Given the description of an element on the screen output the (x, y) to click on. 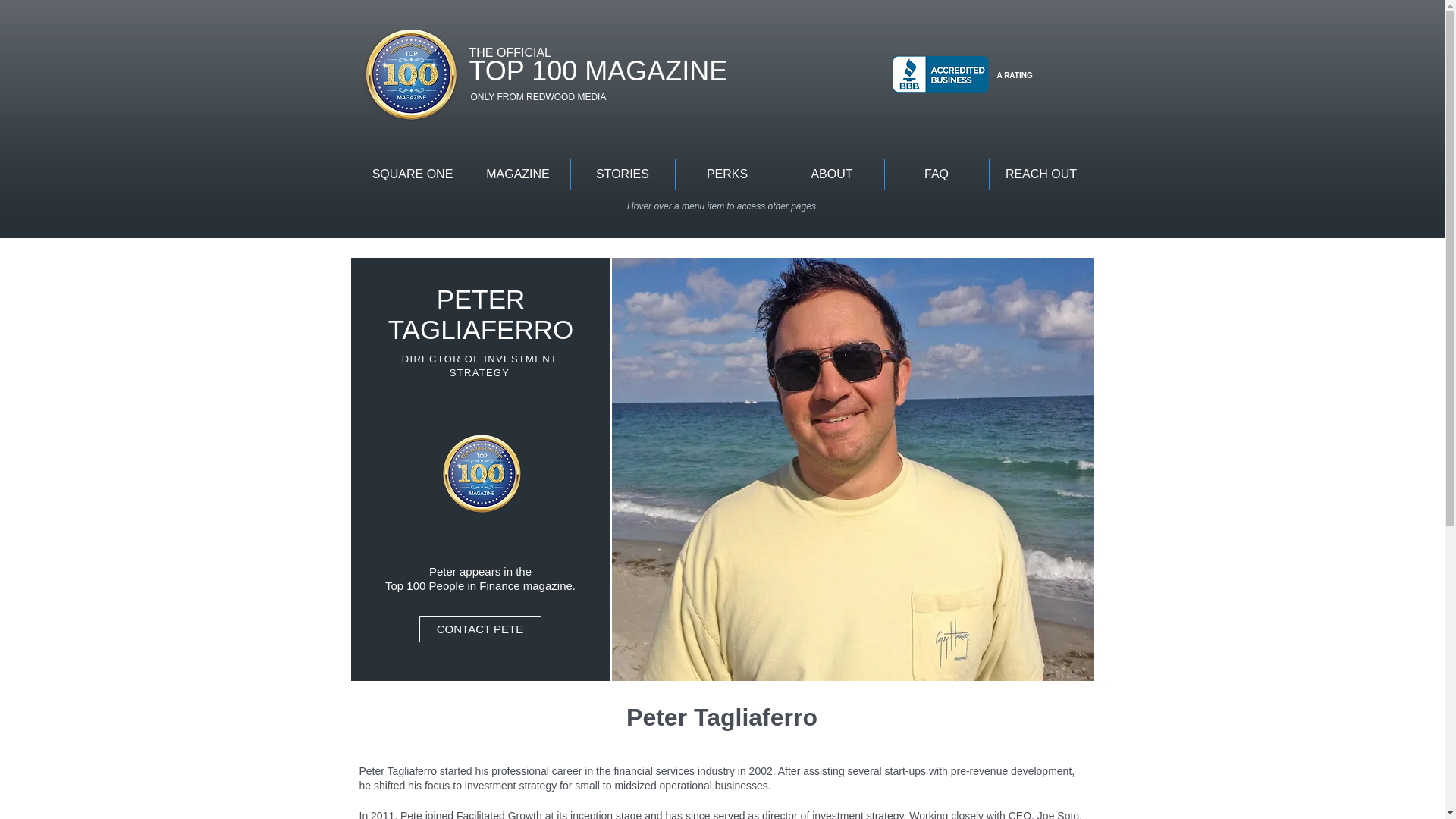
TOP 100 MAGAZINE (597, 70)
SQUARE ONE (411, 173)
MAGAZINE (517, 173)
PERKS (726, 173)
CONTACT PETE (479, 628)
ABOUT (830, 173)
REACH OUT (1040, 173)
STORIES (622, 173)
FAQ (935, 173)
